Given the description of an element on the screen output the (x, y) to click on. 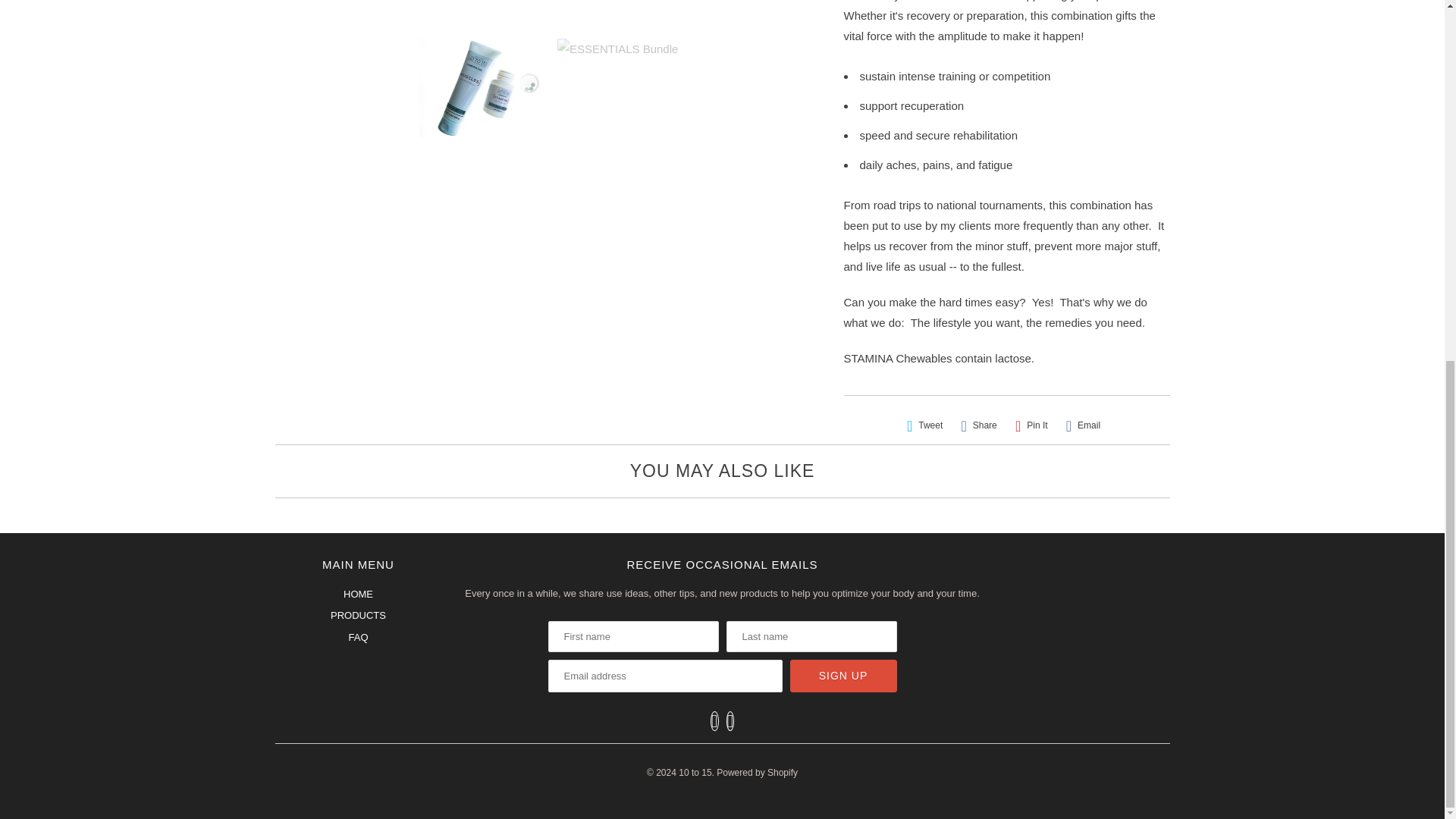
Share this on Facebook (978, 425)
Tweet (924, 425)
HOME (357, 593)
Share this on Twitter (924, 425)
FAQ (357, 636)
Sign Up (843, 676)
Pin It (1031, 425)
Email (1083, 425)
PRODUCTS (357, 614)
Share this on Pinterest (1031, 425)
Share (978, 425)
ESSENTIALS Bundle (552, 11)
Email this to a friend (1083, 425)
